Given the description of an element on the screen output the (x, y) to click on. 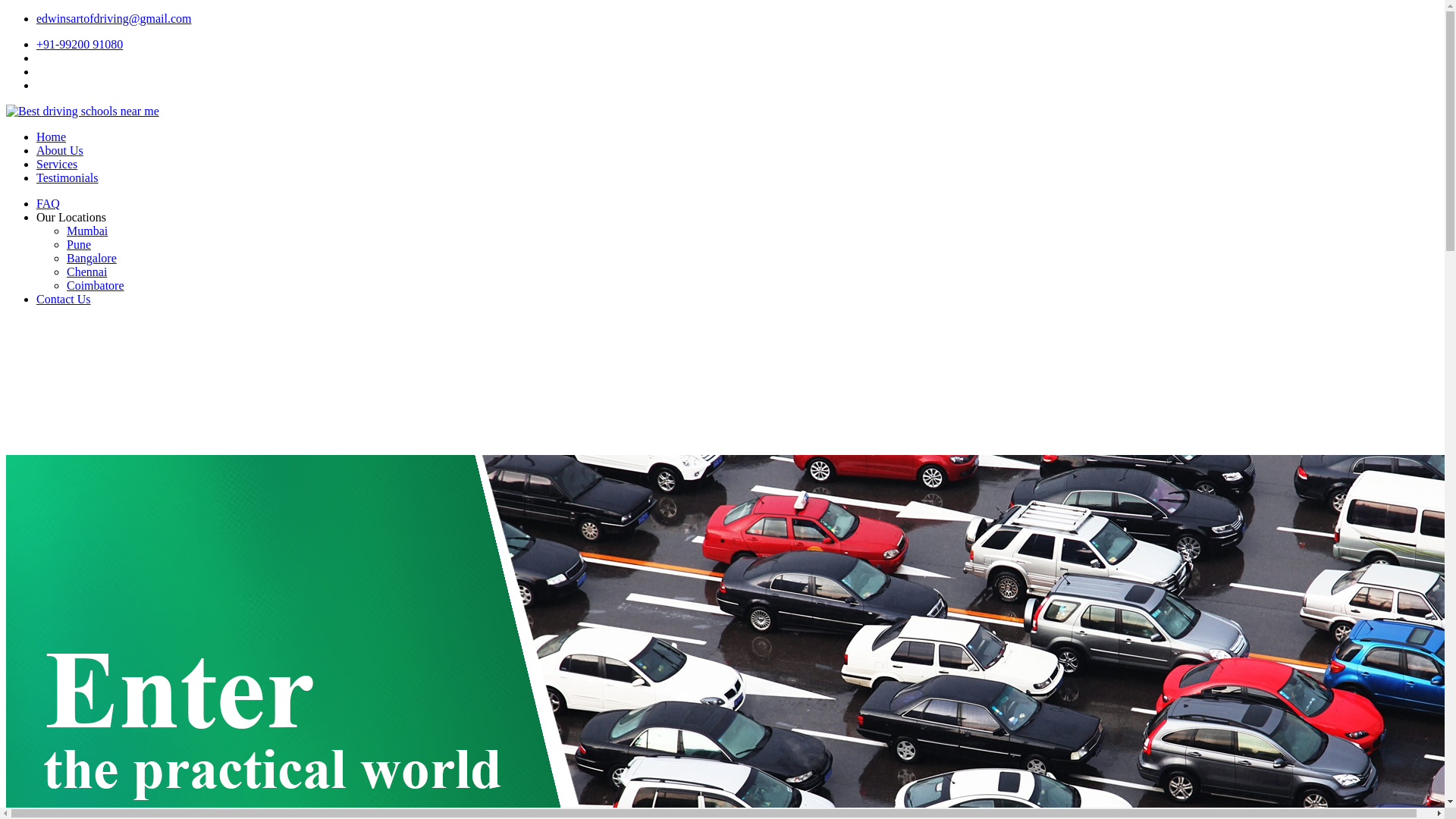
Mumbai (86, 230)
Coimbatore (94, 285)
FAQ (47, 203)
Bangalore (91, 257)
Pune (78, 244)
Contact Us (63, 298)
Services (56, 164)
About Us (59, 150)
Home (50, 136)
Testimonials (67, 177)
Chennai (86, 271)
